Given the description of an element on the screen output the (x, y) to click on. 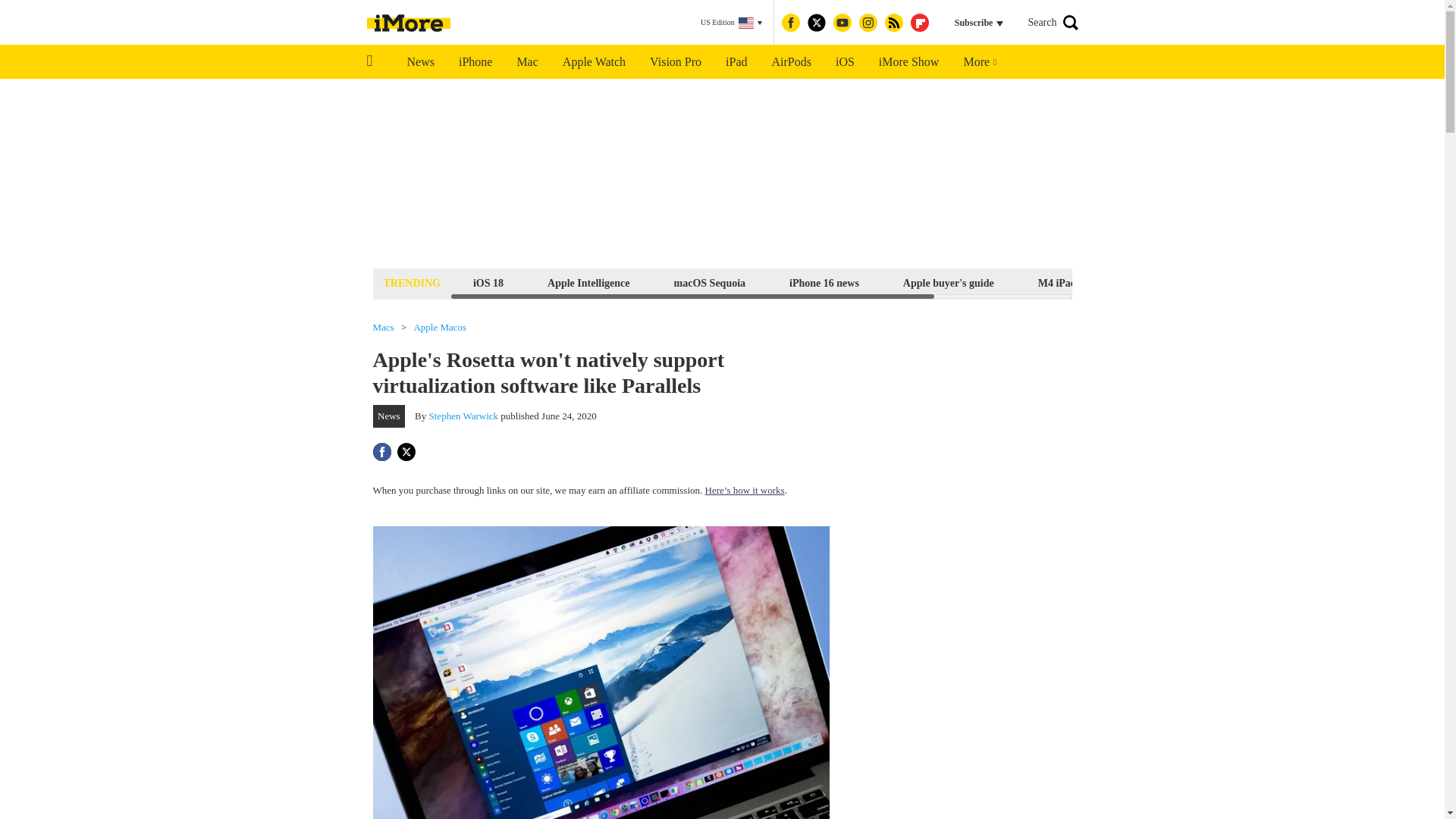
US Edition (731, 22)
iPhone (474, 61)
iOS (845, 61)
Apple Watch (593, 61)
iMore Show (909, 61)
AirPods (792, 61)
News (419, 61)
Mac (526, 61)
iPad (735, 61)
Vision Pro (675, 61)
